Given the description of an element on the screen output the (x, y) to click on. 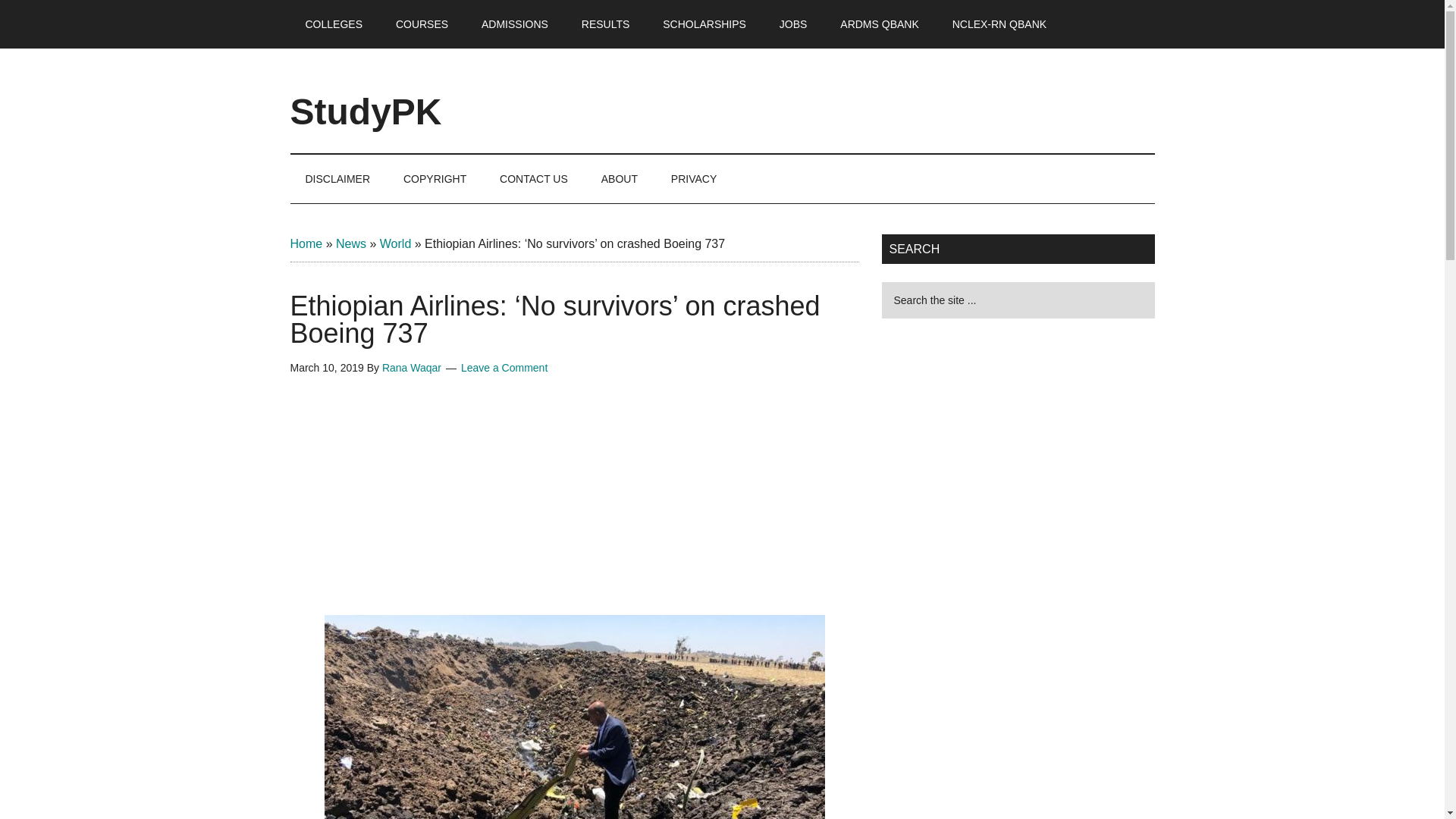
SCHOLARSHIPS (704, 24)
CONTACT US (533, 178)
COURSES (421, 24)
COPYRIGHT (434, 178)
NCLEX-RN QBANK (999, 24)
News (351, 243)
ARDMS QBANK (879, 24)
PRIVACY (694, 178)
ABOUT (619, 178)
